Given the description of an element on the screen output the (x, y) to click on. 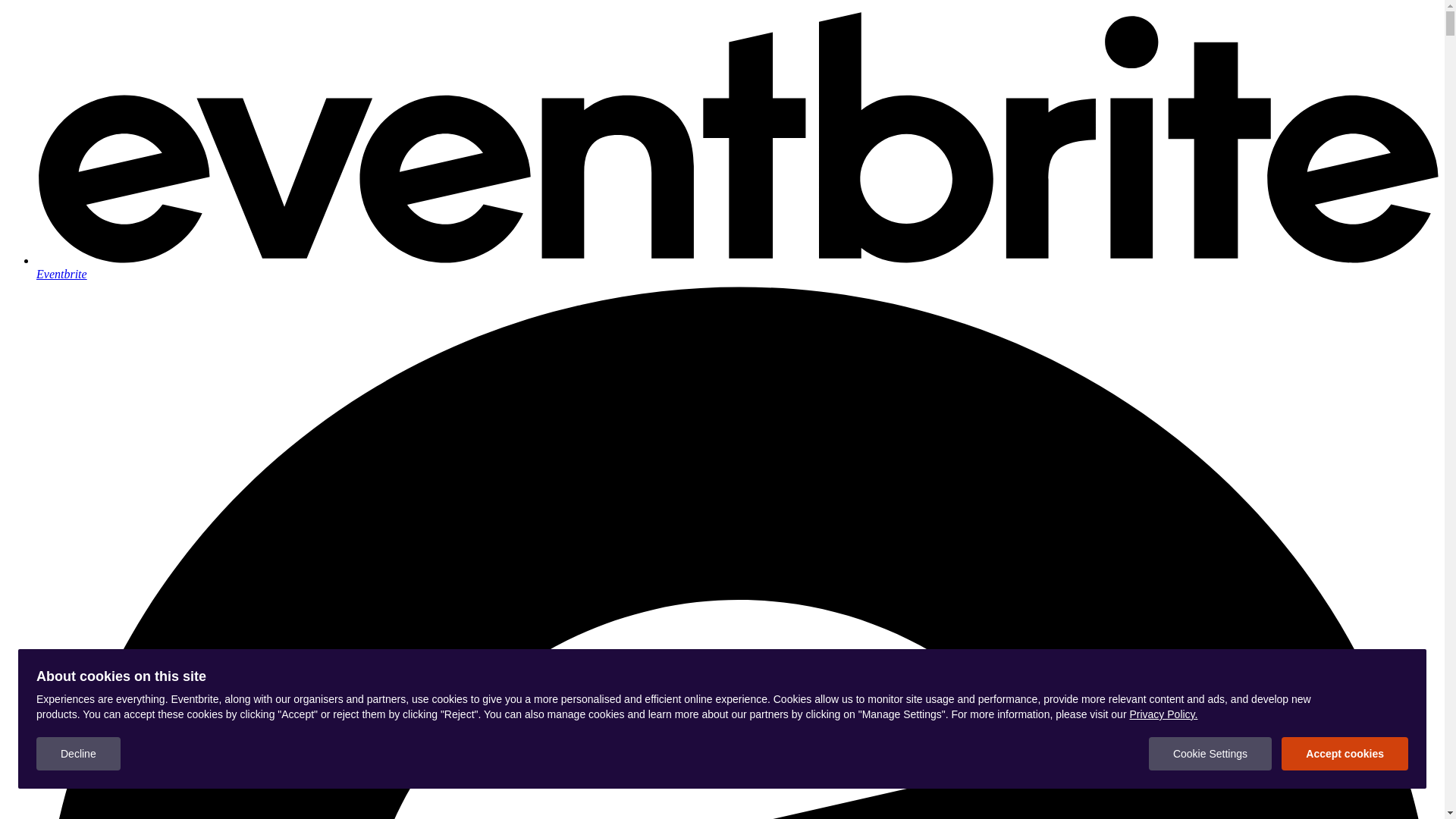
Cookie Settings Element type: text (1209, 753)
Privacy Policy. Element type: text (1163, 714)
Eventbrite Element type: text (737, 267)
Accept cookies Element type: text (1344, 753)
Decline Element type: text (78, 753)
